Given the description of an element on the screen output the (x, y) to click on. 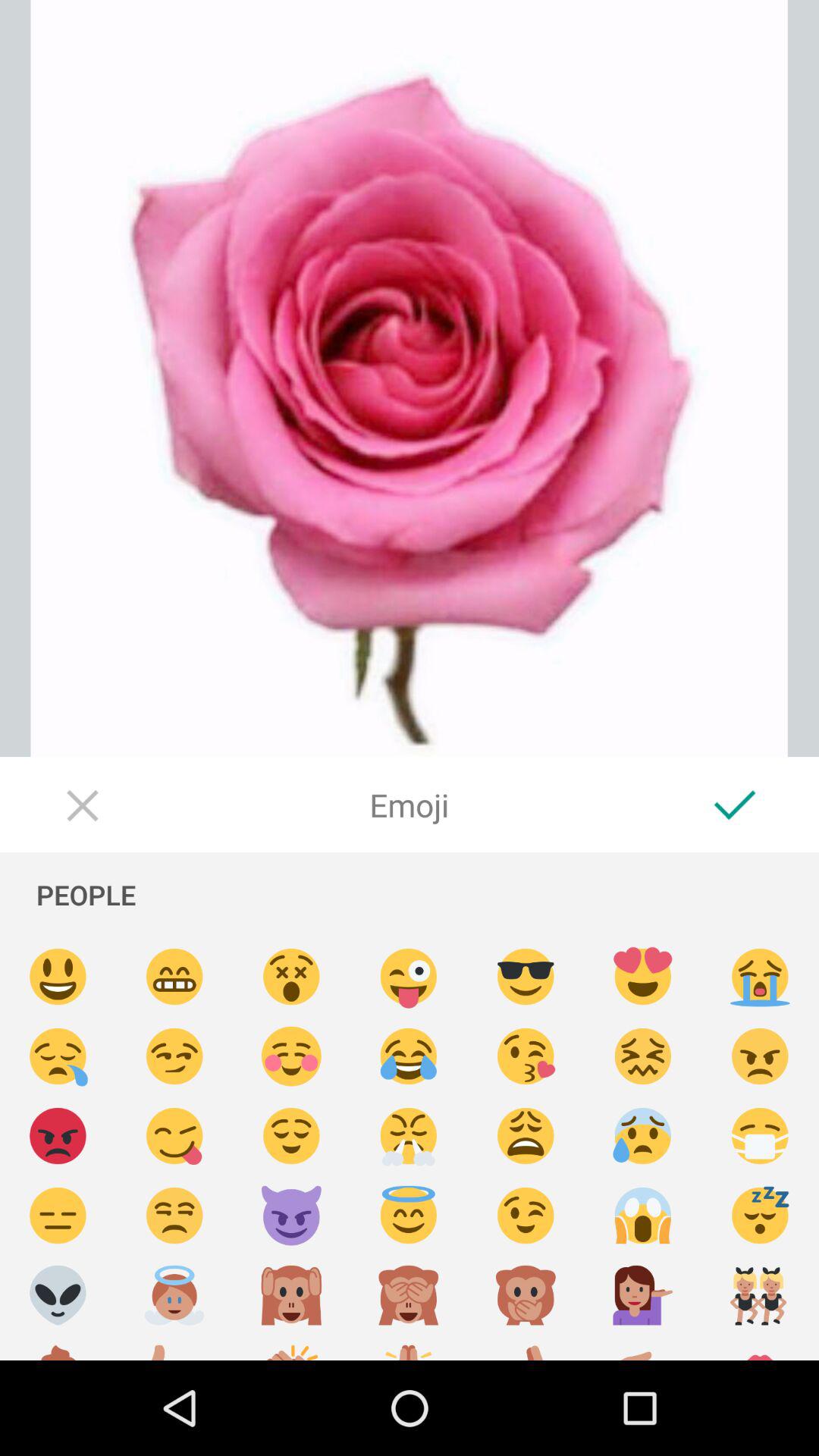
woozy face emoji (642, 1056)
